Given the description of an element on the screen output the (x, y) to click on. 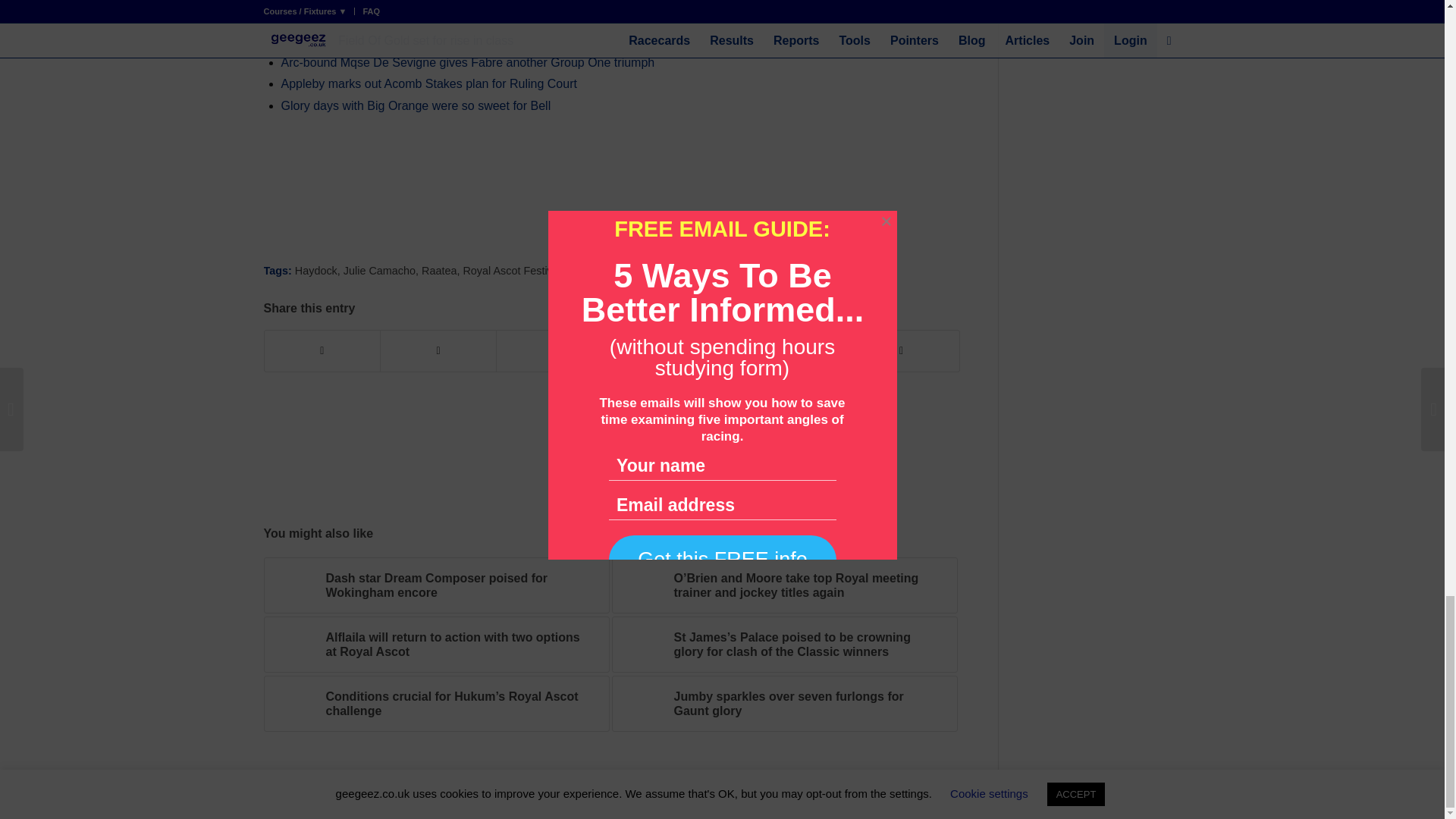
276387340  geegeez.co.uk (290, 585)
Dash star Dream Composer poised for Wokingham encore (436, 585)
